Given the description of an element on the screen output the (x, y) to click on. 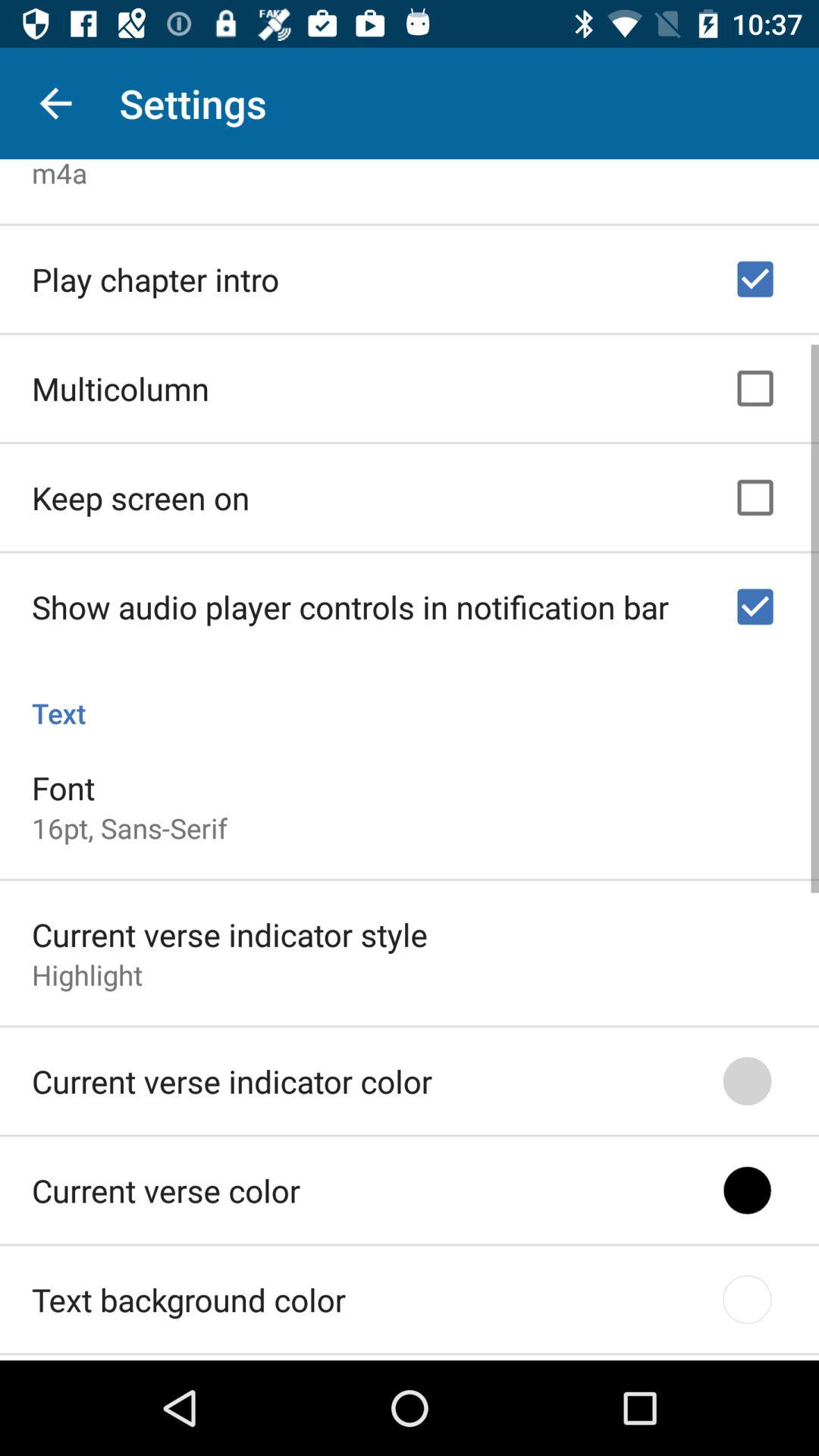
launch icon above play chapter intro item (59, 173)
